Given the description of an element on the screen output the (x, y) to click on. 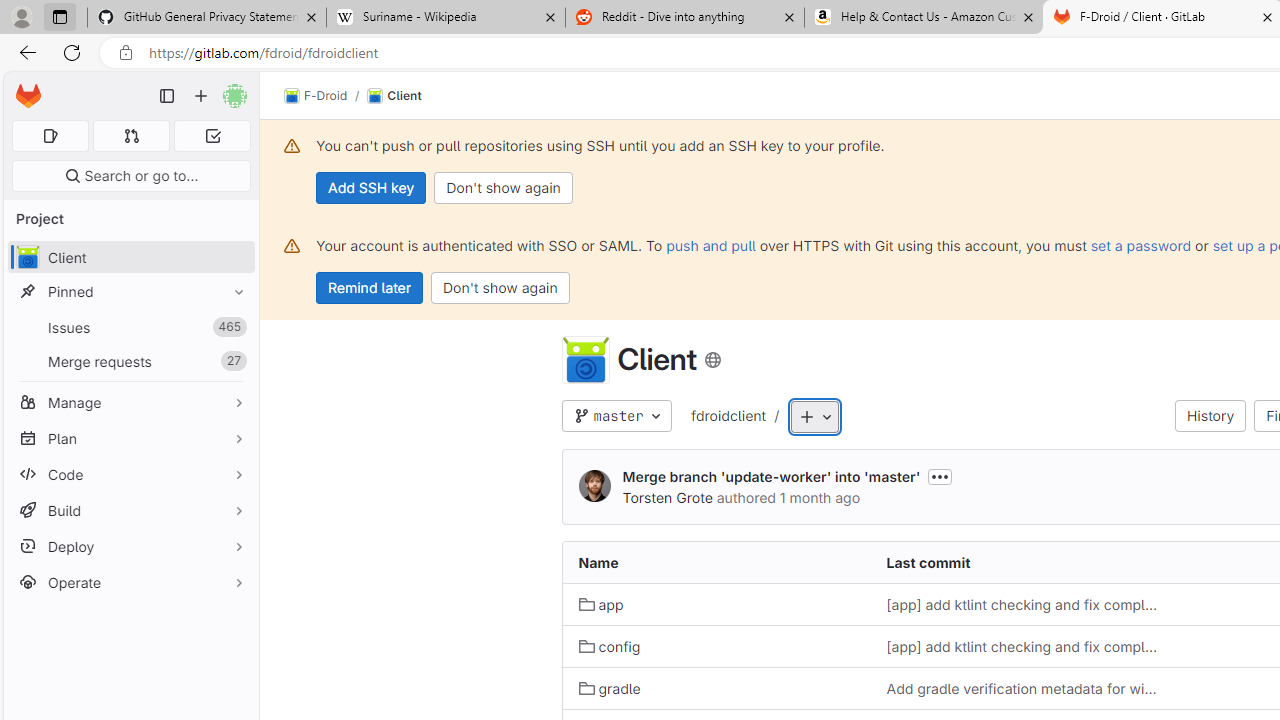
Class: s16 gl-alert-icon gl-alert-icon-no-title (291, 246)
fdroidclient (727, 417)
History (1209, 416)
[app] add ktlint checking and fix complaints it has (1024, 646)
Client (394, 96)
Primary navigation sidebar (167, 96)
Create new... (201, 96)
Merge requests 27 (130, 361)
Toggle commit description (940, 476)
Add to tree (815, 417)
